Given the description of an element on the screen output the (x, y) to click on. 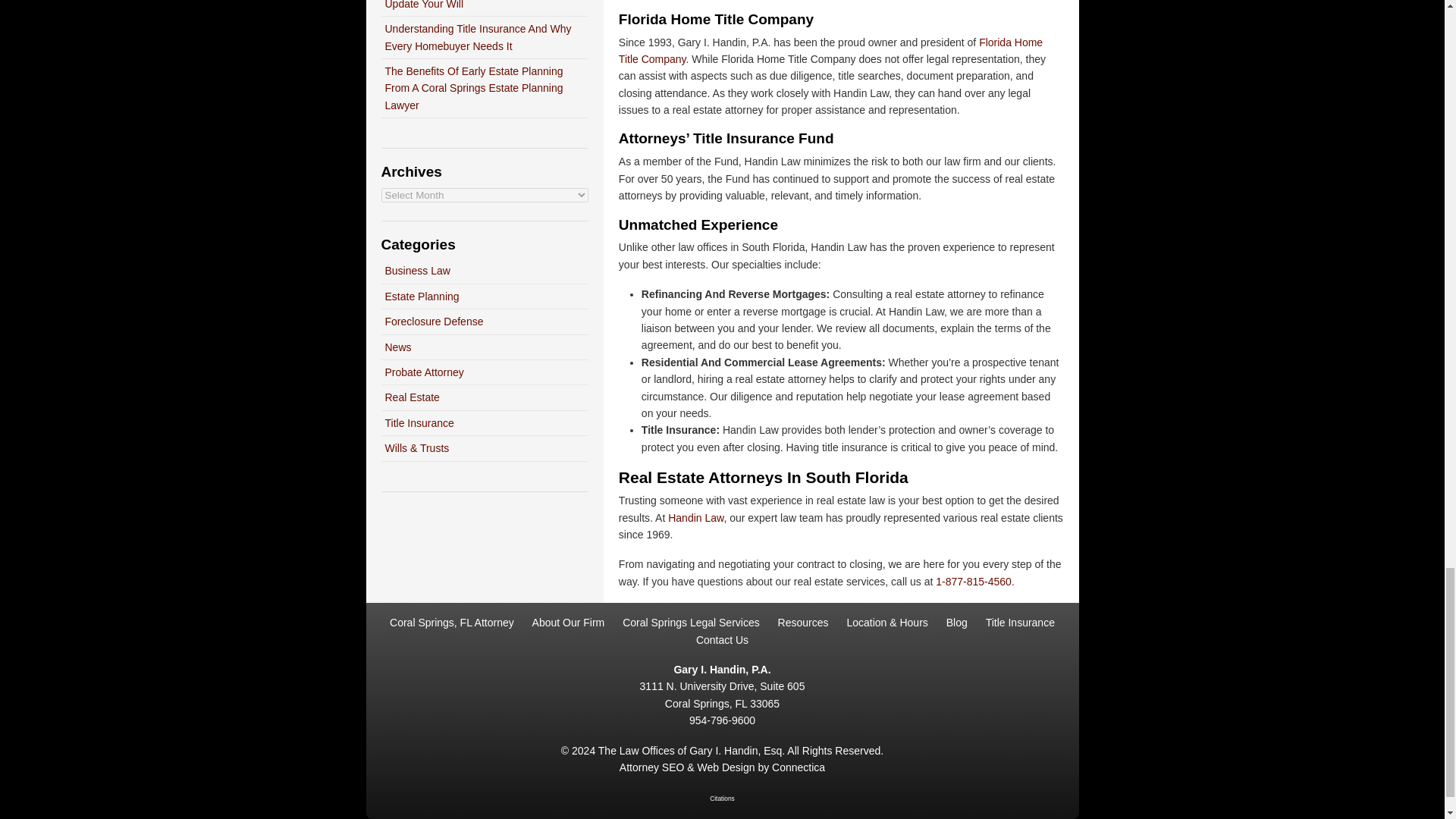
Estate Planning (422, 296)
News (398, 346)
Foreclosure Defense (434, 321)
Business Law (417, 270)
Why You Should Use A Wills Attorney To Update Your Will (480, 4)
